Given the description of an element on the screen output the (x, y) to click on. 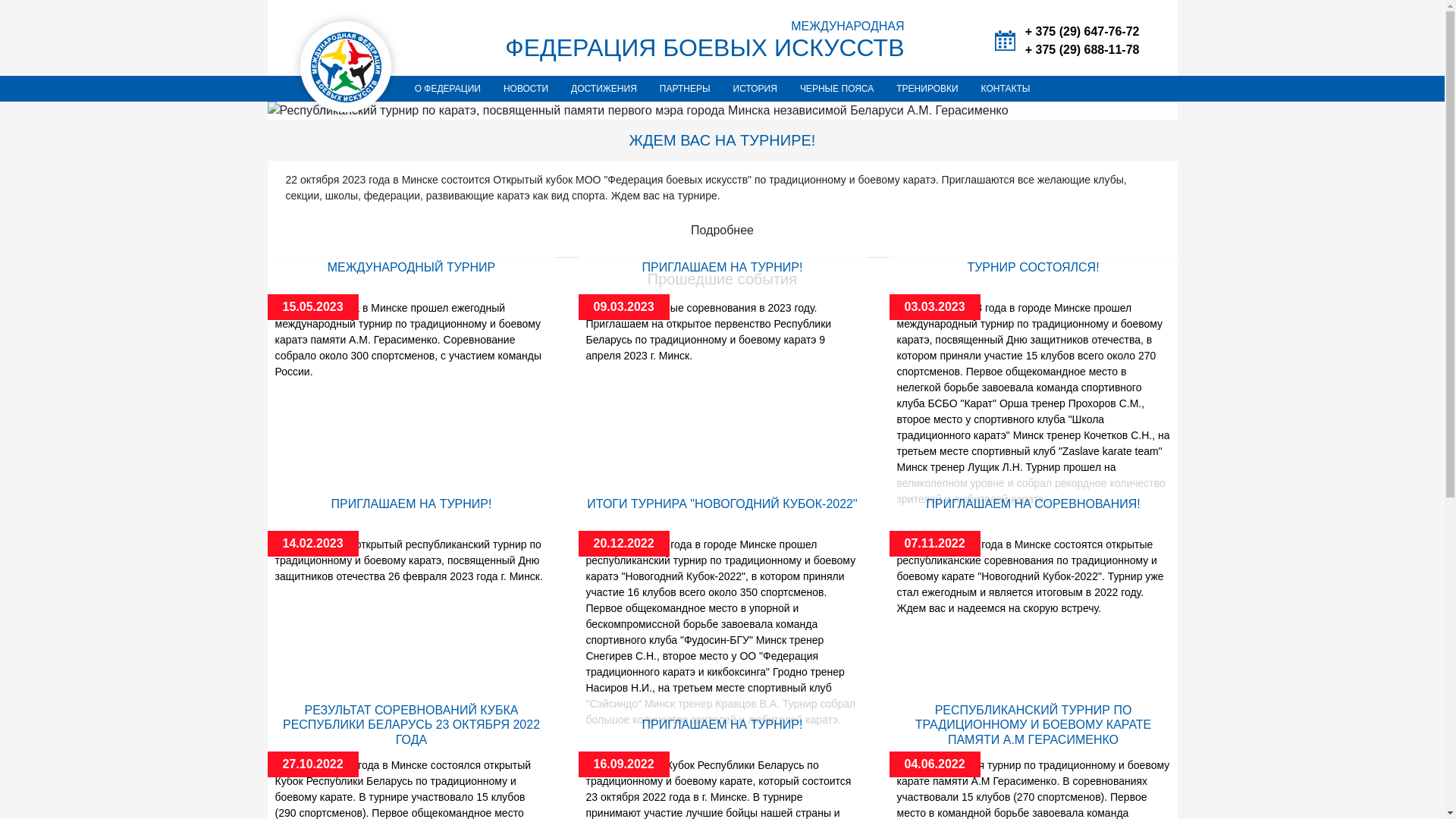
+ 375 (29) 647-76-72 Element type: text (1082, 31)
+ 375 (29) 688-11-78 Element type: text (1082, 49)
